Given the description of an element on the screen output the (x, y) to click on. 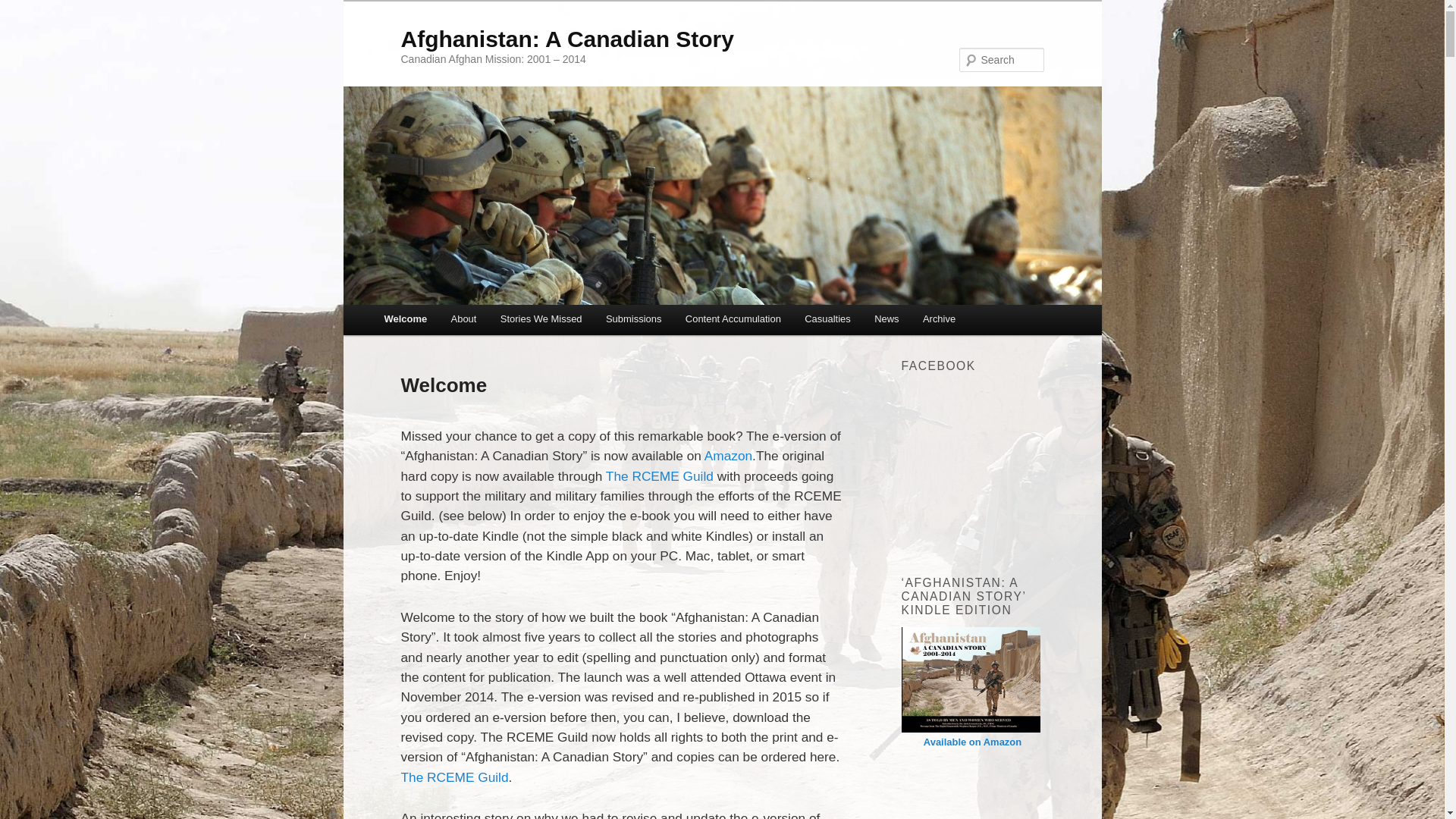
Casualties Element type: text (827, 318)
Submissions Element type: text (633, 318)
Search Element type: text (25, 9)
The RCEME Guild Element type: text (454, 776)
News Element type: text (886, 318)
Content Accumulation Element type: text (732, 318)
Available on Amazon Element type: text (972, 741)
Amazon Element type: text (728, 455)
Skip to primary content Element type: text (456, 322)
About Element type: text (463, 318)
Skip to secondary content Element type: text (464, 322)
Stories We Missed Element type: text (540, 318)
Archive Element type: text (938, 318)
The RCEME Guild Element type: text (659, 475)
Welcome Element type: text (405, 318)
Afghanistan: A Canadian Story Element type: text (566, 38)
